Given the description of an element on the screen output the (x, y) to click on. 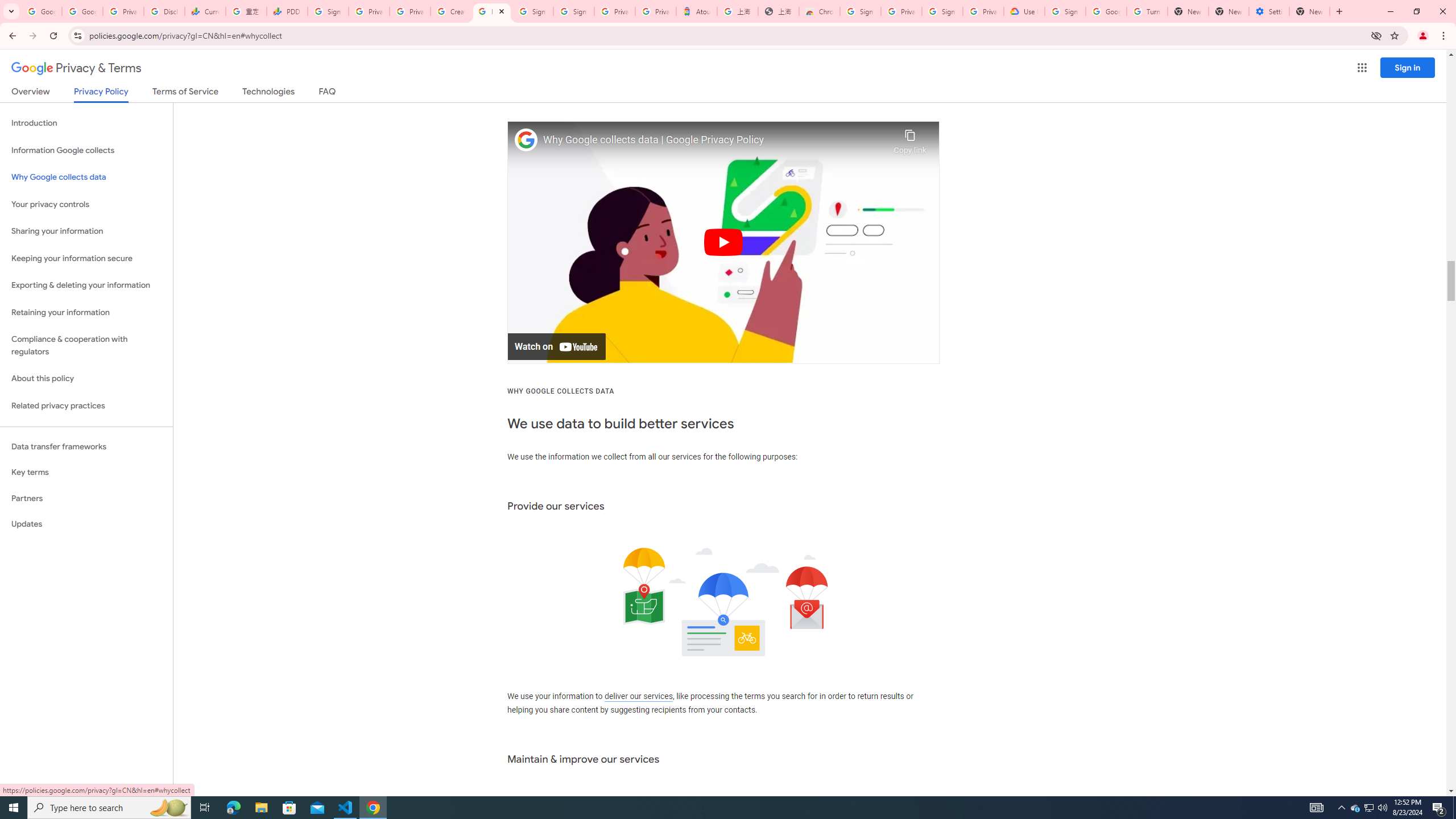
Photo image of Google (526, 139)
Why Google collects data | Google Privacy Policy (715, 140)
Play (723, 242)
Create your Google Account (450, 11)
Sign in - Google Accounts (1064, 11)
About this policy (86, 379)
Copy link (909, 139)
